Given the description of an element on the screen output the (x, y) to click on. 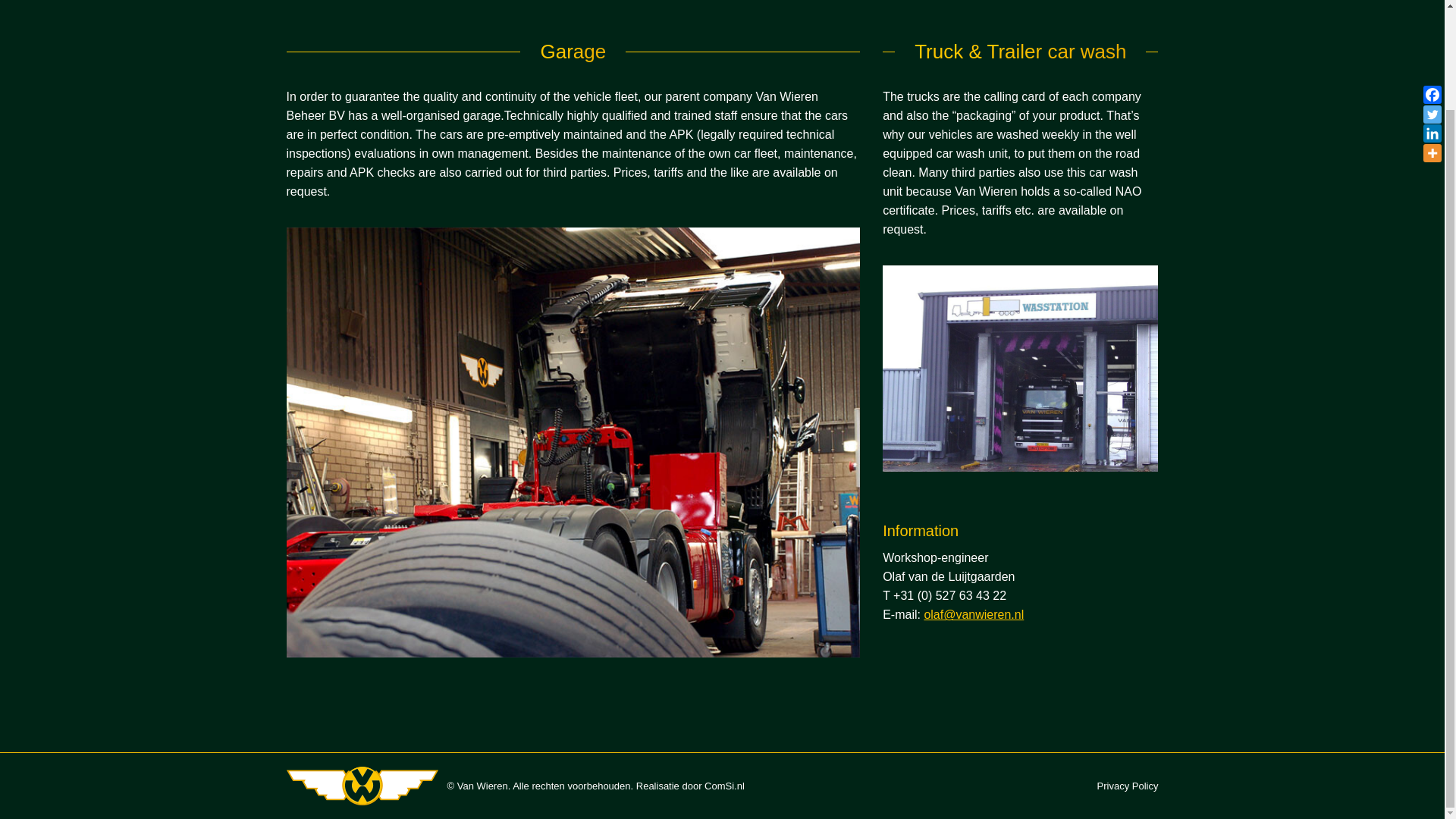
More (1432, 36)
Linkedin (1432, 17)
Twitter (1432, 3)
Wasplaats (1019, 368)
